Given the description of an element on the screen output the (x, y) to click on. 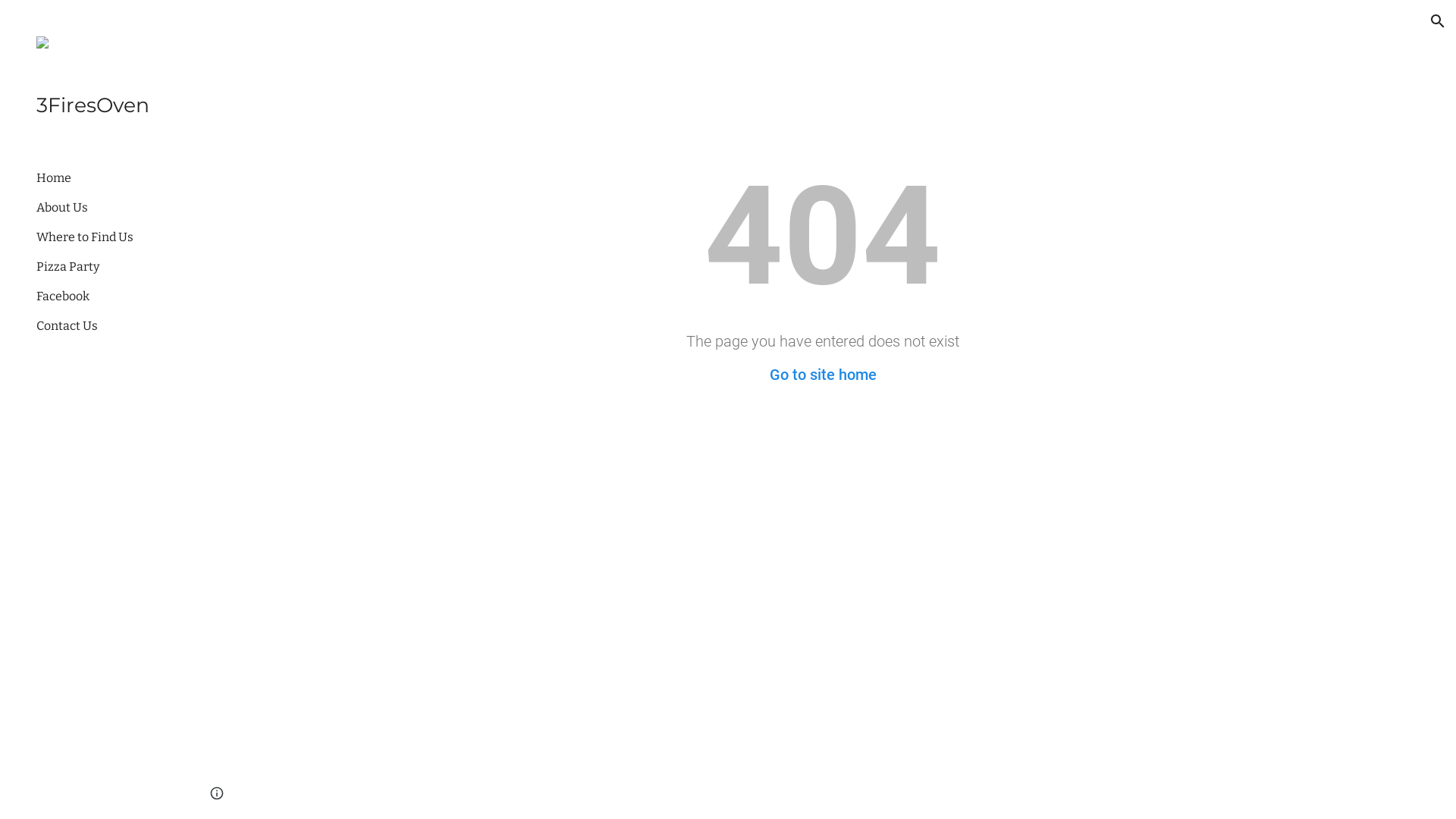
Contact Us Element type: text (106, 325)
Go to site home Element type: text (821, 374)
Pizza Party Element type: text (106, 266)
3FiresOven Element type: text (100, 105)
Facebook Element type: text (106, 295)
About Us Element type: text (106, 207)
Where to Find Us Element type: text (106, 236)
Home Element type: text (106, 177)
